Given the description of an element on the screen output the (x, y) to click on. 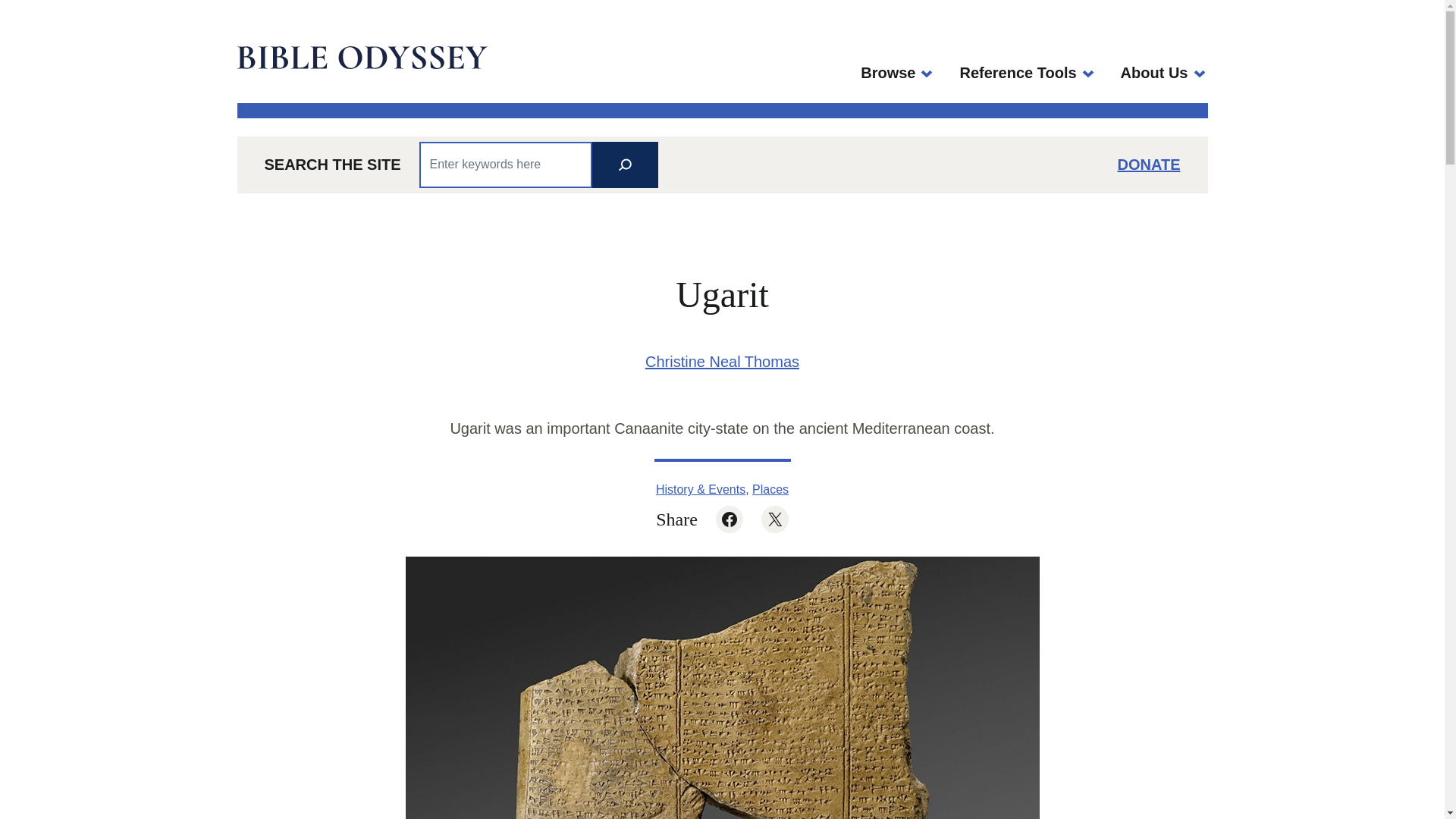
 - opens in a new window (729, 519)
 - opens in a new window (775, 519)
Reference Tools (1017, 72)
 - opens in a new window (1149, 164)
Share on Facebook (729, 519)
DONATE (1149, 164)
 - opens in a new window (1154, 72)
 - opens in a new window (887, 72)
Places (770, 489)
Browse (887, 72)
Christine Neal Thomas (722, 361)
Share on Twitter (775, 519)
About Us (1154, 72)
